Given the description of an element on the screen output the (x, y) to click on. 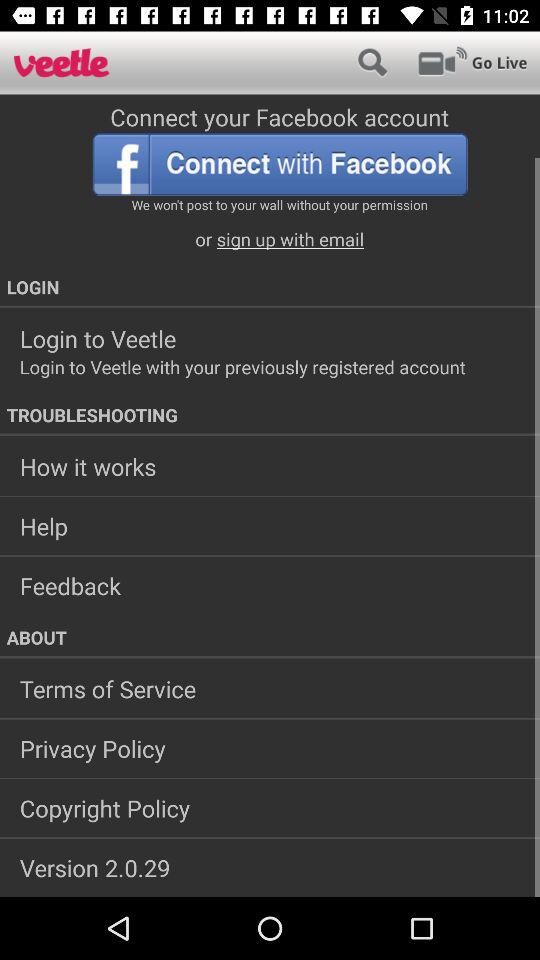
choose terms of service app (270, 689)
